Given the description of an element on the screen output the (x, y) to click on. 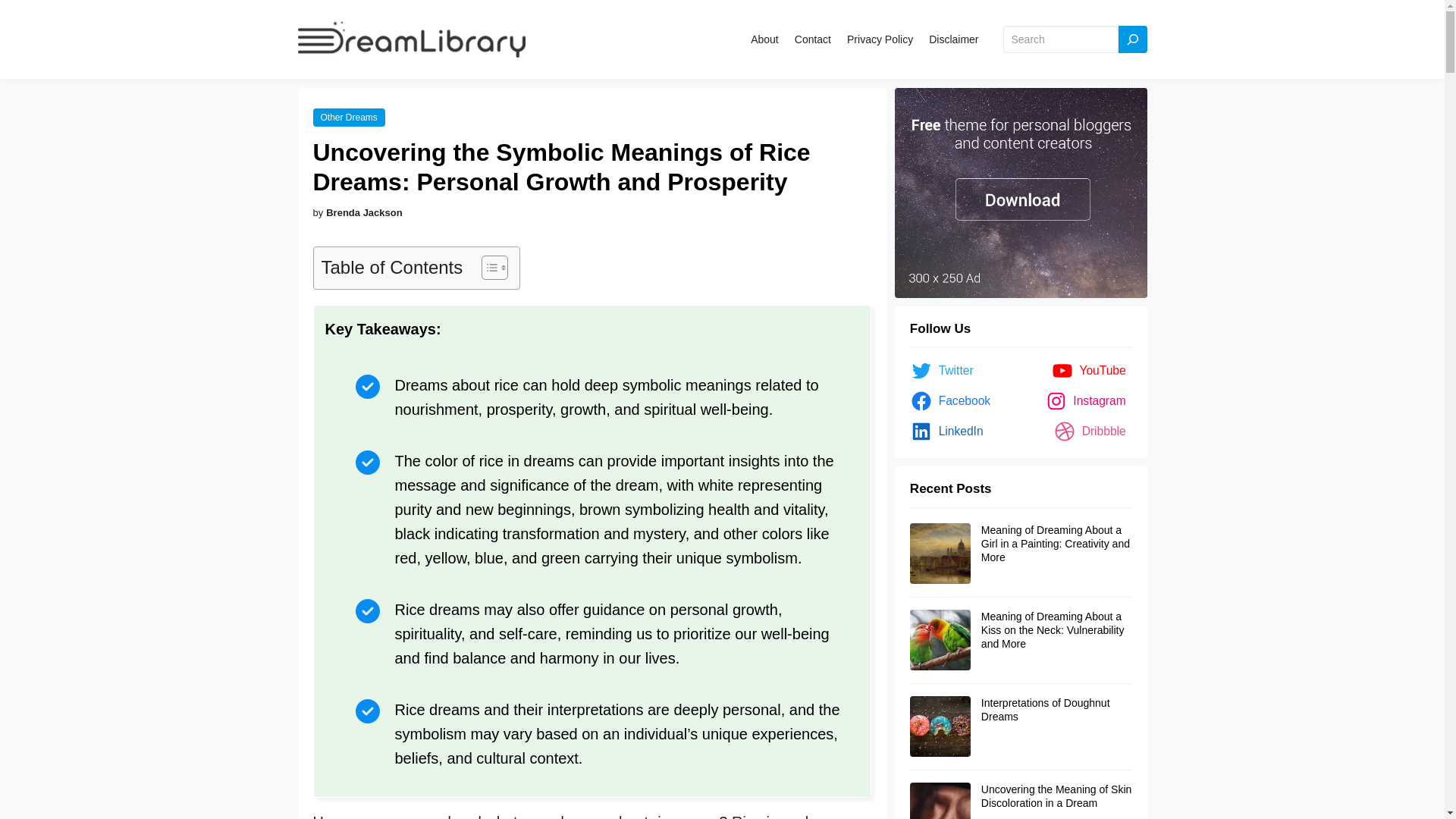
Contact (812, 39)
Other Dreams (348, 117)
Disclaimer (953, 39)
Privacy Policy (879, 39)
